Given the description of an element on the screen output the (x, y) to click on. 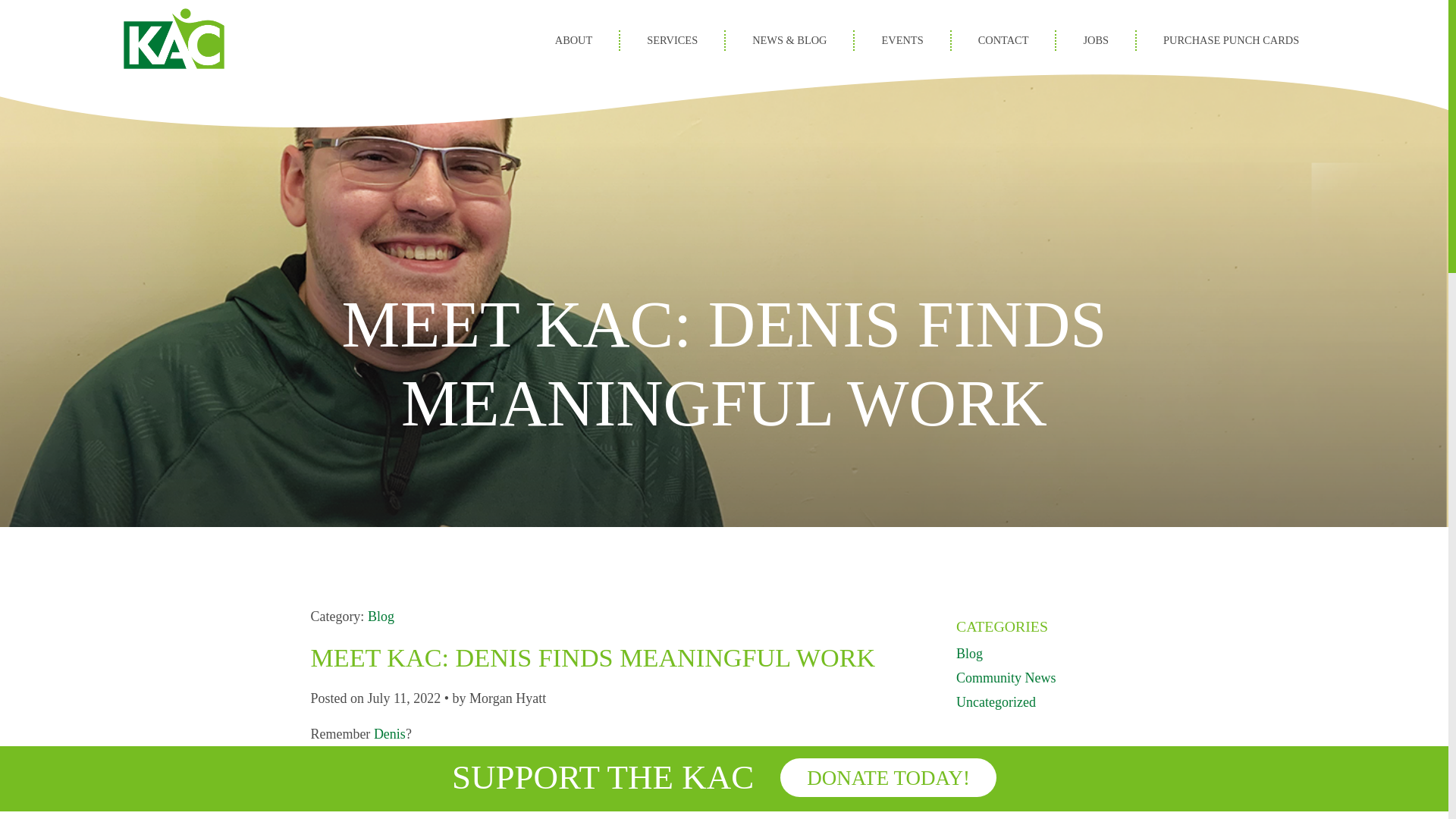
ABOUT (574, 40)
JOBS (1096, 40)
RECENT EVENTS (1015, 770)
PURCHASE PUNCH CARDS (1230, 40)
Community News (1006, 677)
Uncategorized (995, 702)
Blog (969, 653)
SERVICES (671, 40)
CONTACT (1003, 40)
EVENTS (901, 40)
